Given the description of an element on the screen output the (x, y) to click on. 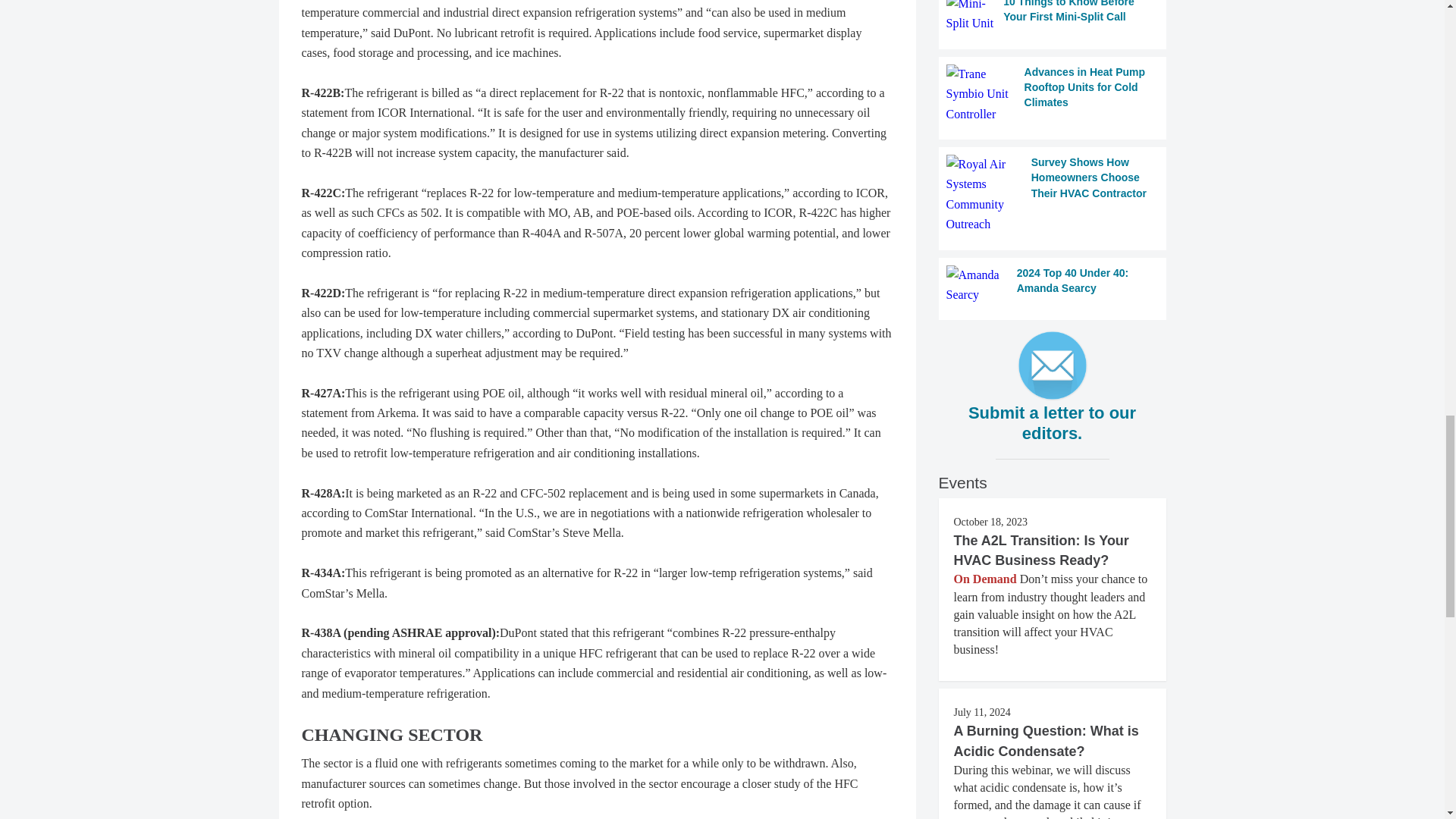
2024 Top 40 Under 40: Amanda Searcy (1052, 285)
A Burning Question: What is Acidic Condensate? (1045, 740)
10 Things to Know Before Your First Mini-Split Call (1052, 17)
Survey Shows How Homeowners Choose Their HVAC Contractor (1052, 194)
The A2L Transition: Is Your HVAC Business Ready? (1041, 550)
Advances in Heat Pump Rooftop Units for Cold Climates (1052, 94)
